Given the description of an element on the screen output the (x, y) to click on. 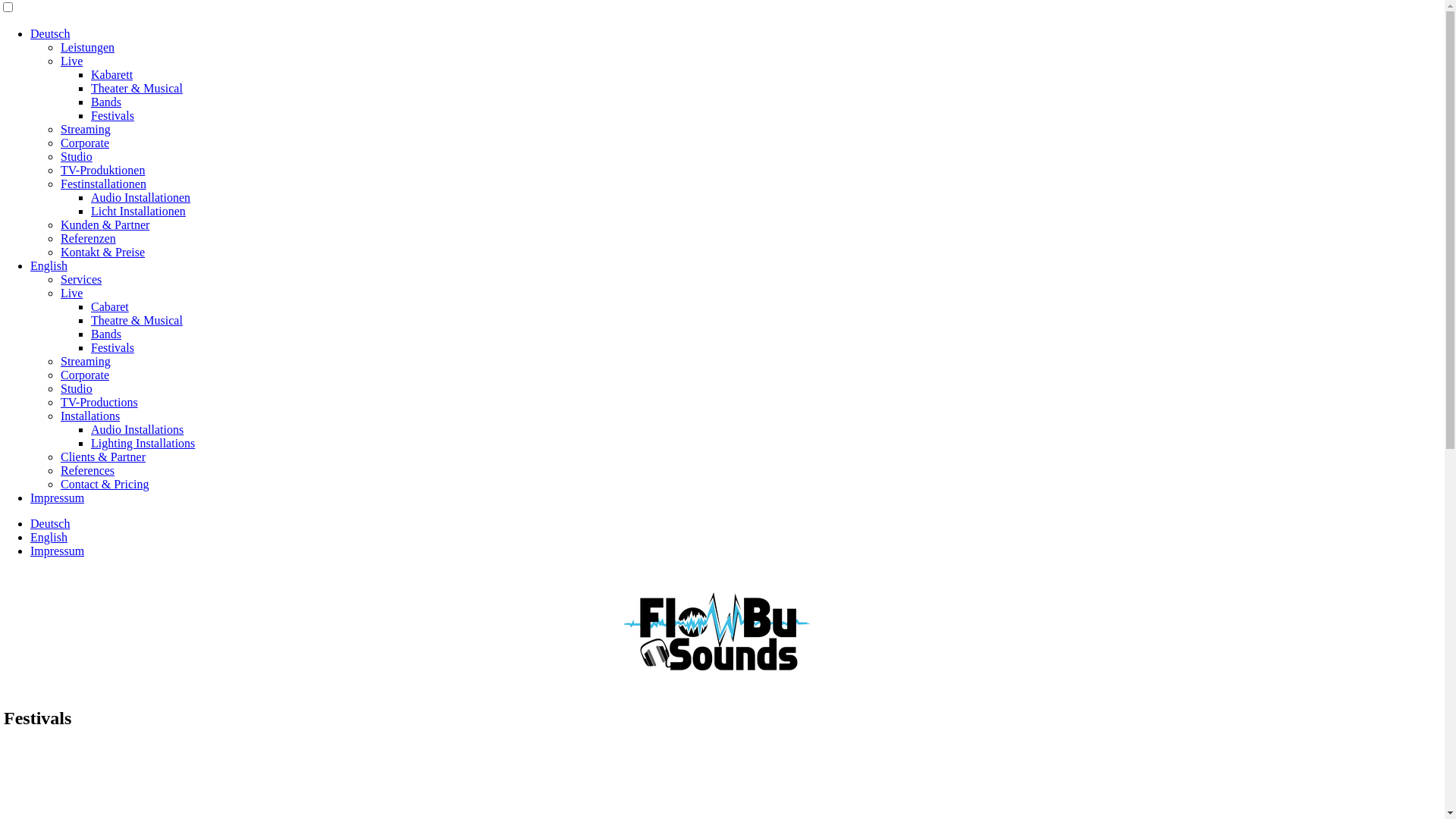
References Element type: text (87, 470)
Deutsch Element type: text (49, 523)
TV-Productions Element type: text (99, 401)
Leistungen Element type: text (87, 46)
Deutsch Element type: text (49, 33)
Lighting Installations Element type: text (142, 442)
Streaming Element type: text (85, 128)
Impressum Element type: text (57, 497)
Festinstallationen Element type: text (103, 183)
Studio Element type: text (76, 156)
Services Element type: text (80, 279)
Referenzen Element type: text (88, 238)
Corporate Element type: text (84, 142)
Audio Installations Element type: text (137, 429)
Streaming Element type: text (85, 360)
Corporate Element type: text (84, 374)
Contact & Pricing Element type: text (104, 483)
Live Element type: text (71, 60)
Audio Installationen Element type: text (140, 197)
English Element type: text (48, 536)
Theater & Musical Element type: text (136, 87)
Kontakt & Preise Element type: text (102, 251)
Cabaret Element type: text (109, 306)
Theatre & Musical Element type: text (136, 319)
TV-Produktionen Element type: text (102, 169)
Bands Element type: text (106, 101)
Bands Element type: text (106, 333)
English Element type: text (48, 265)
Clients & Partner Element type: text (102, 456)
Festivals Element type: text (112, 347)
Festivals Element type: text (112, 115)
Kunden & Partner Element type: text (104, 224)
Impressum Element type: text (57, 550)
Live Element type: text (71, 292)
Installations Element type: text (89, 415)
Studio Element type: text (76, 388)
Kabarett Element type: text (111, 74)
Licht Installationen Element type: text (138, 210)
